Given the description of an element on the screen output the (x, y) to click on. 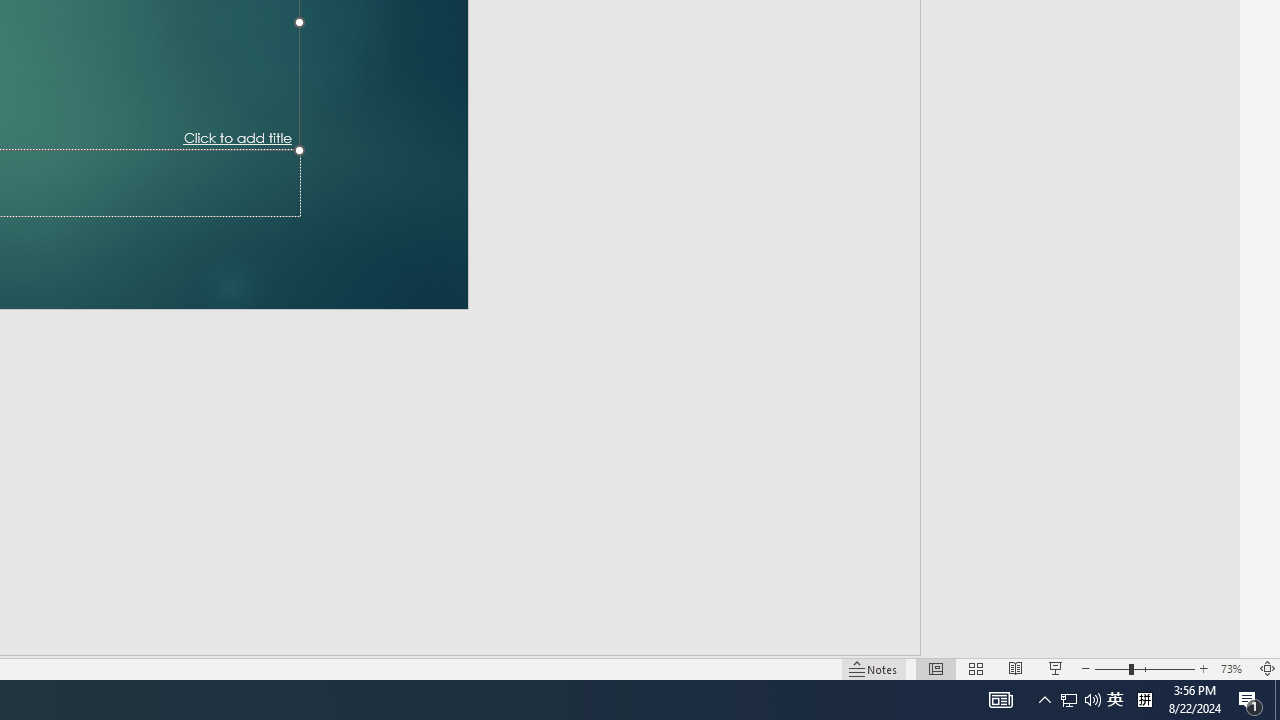
Read Mode (864, 640)
Zoom In (1204, 640)
Class: Image (965, 687)
Zoom 75% (1249, 640)
Print Layout (924, 640)
Focus  (786, 640)
Web Layout (984, 640)
Zoom Out (1067, 640)
Zoom (1116, 640)
